Given the description of an element on the screen output the (x, y) to click on. 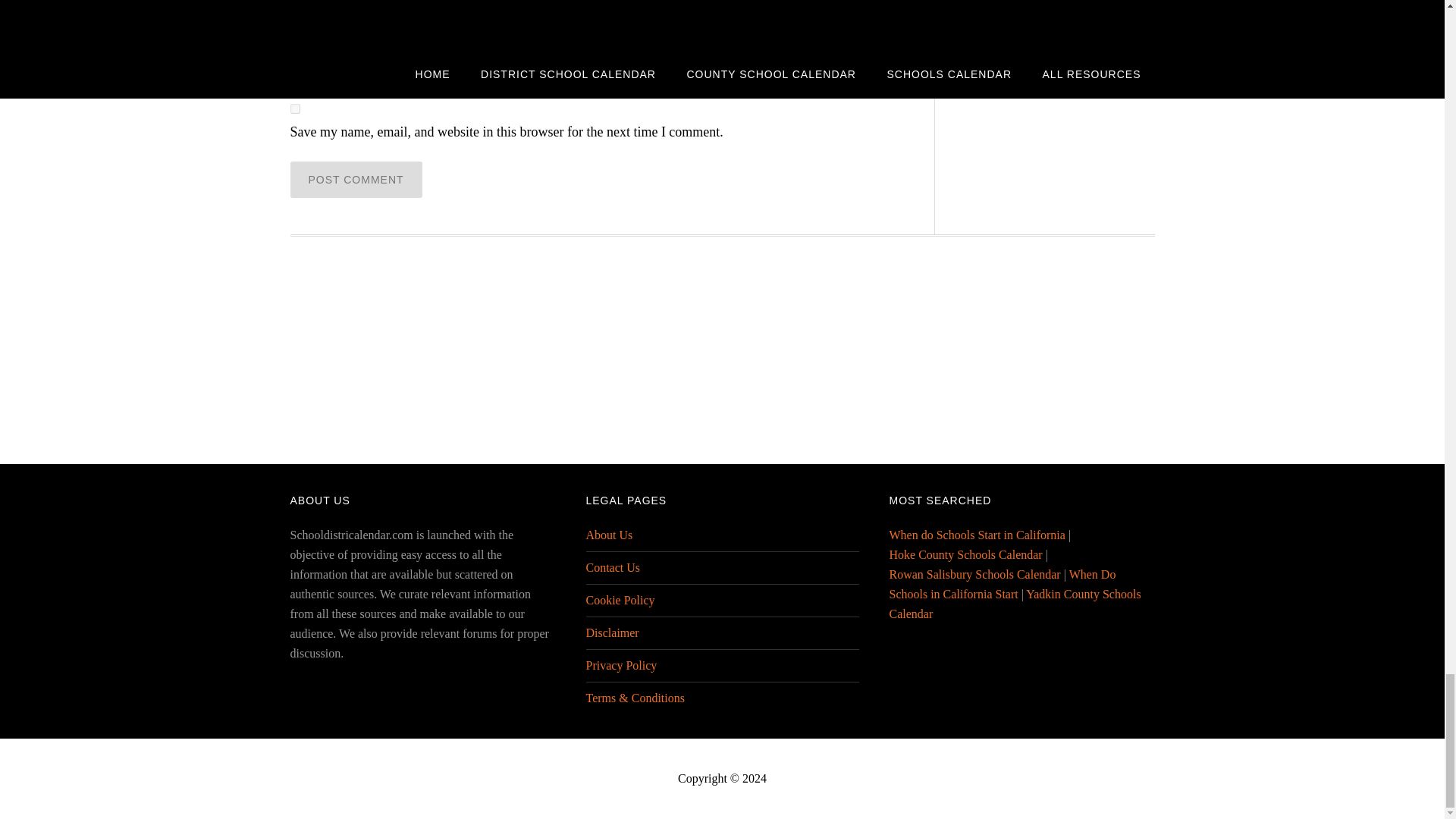
yes (294, 108)
Post Comment (355, 179)
